Given the description of an element on the screen output the (x, y) to click on. 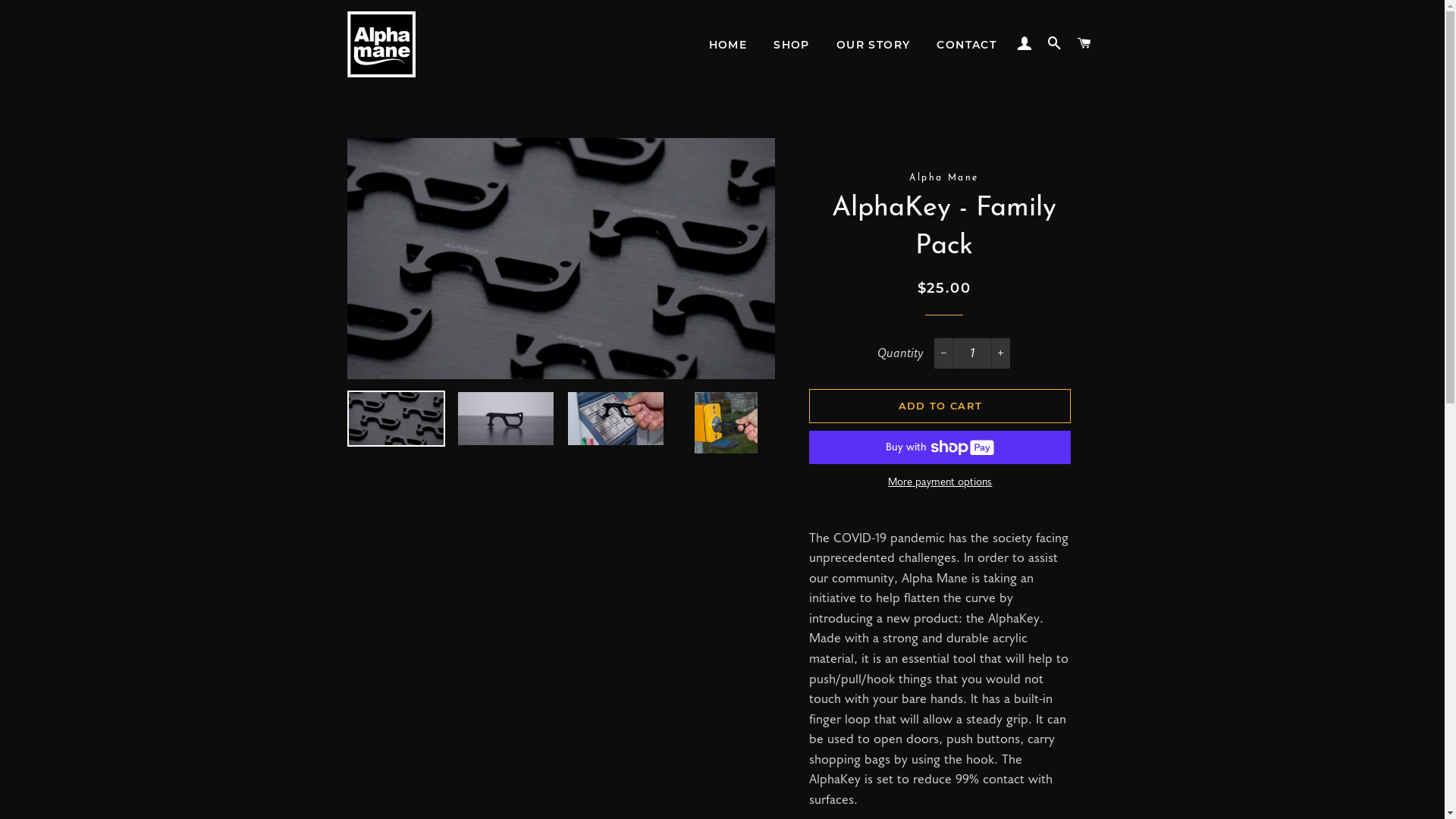
CONTACT Element type: text (966, 45)
OUR STORY Element type: text (873, 45)
ADD TO CART Element type: text (939, 405)
SHOP Element type: text (791, 45)
SEARCH Element type: text (1054, 43)
HOME Element type: text (728, 45)
More payment options Element type: text (939, 482)
CART Element type: text (1084, 43)
+ Element type: text (1000, 353)
LOG IN Element type: text (1024, 43)
